Given the description of an element on the screen output the (x, y) to click on. 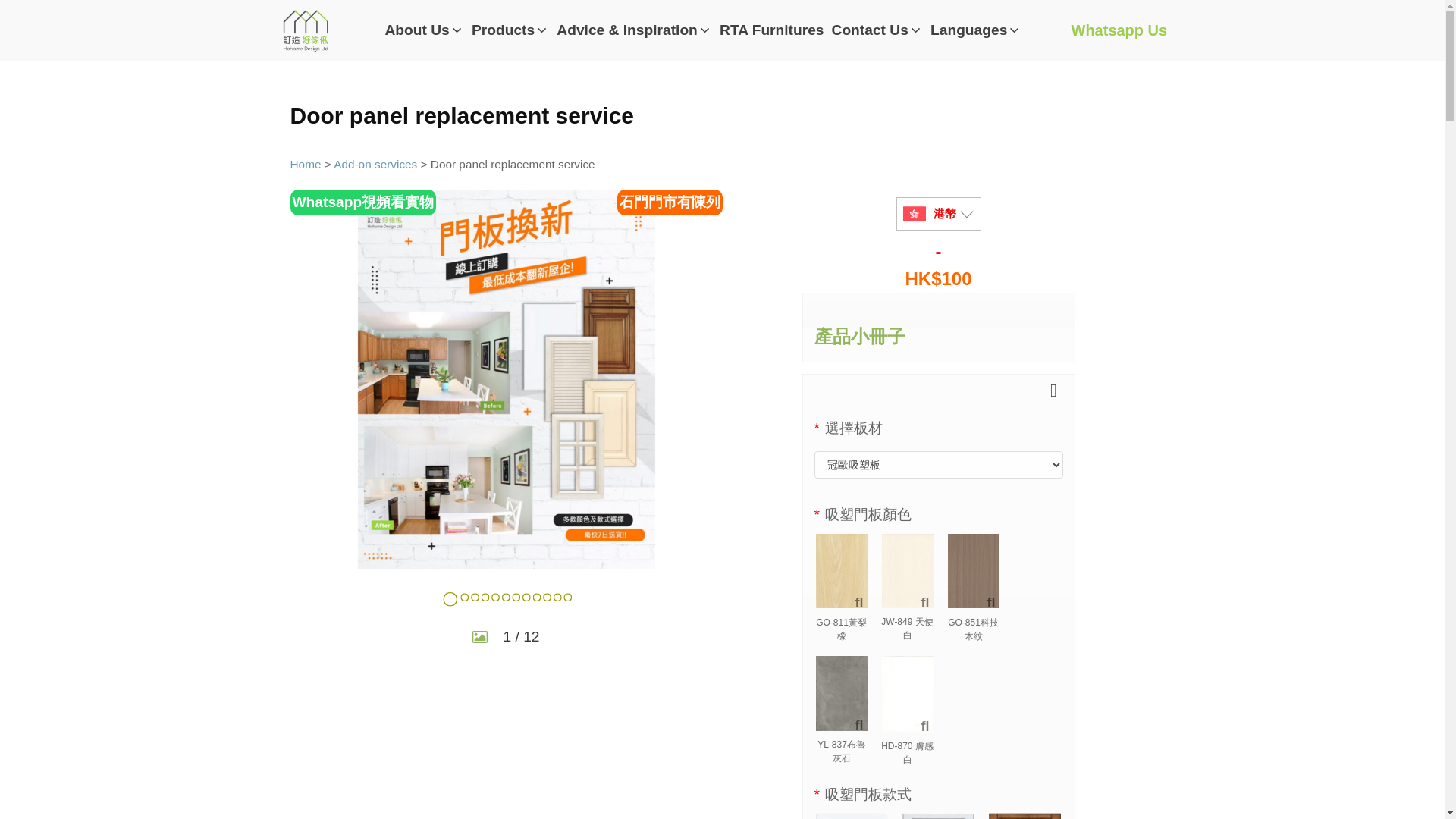
RTA Furnitures (772, 30)
About Us (423, 30)
Products (510, 30)
Languages (975, 30)
Contact Us (877, 30)
Whatsapp Us (1119, 29)
